Given the description of an element on the screen output the (x, y) to click on. 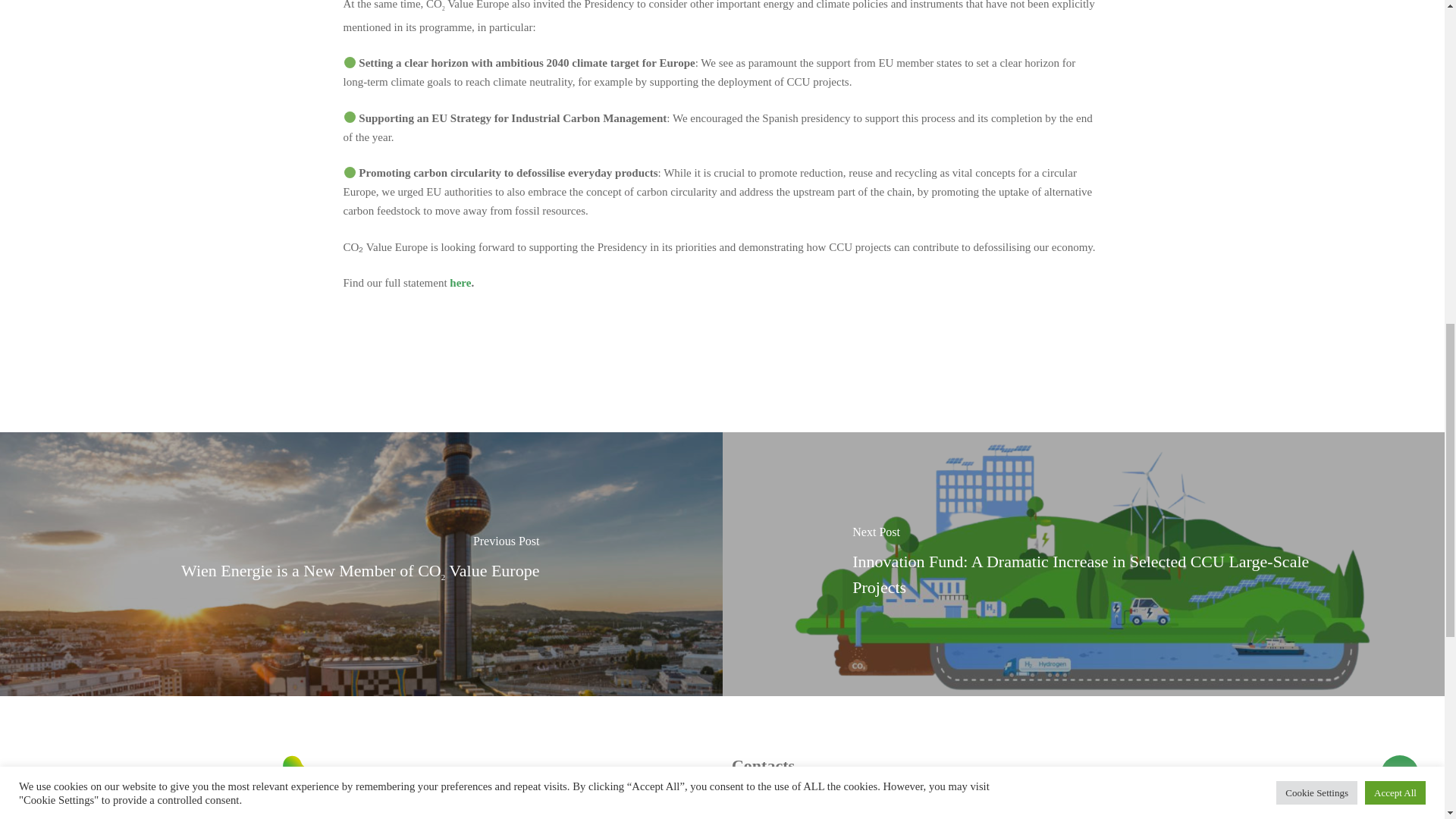
here (459, 282)
